Given the description of an element on the screen output the (x, y) to click on. 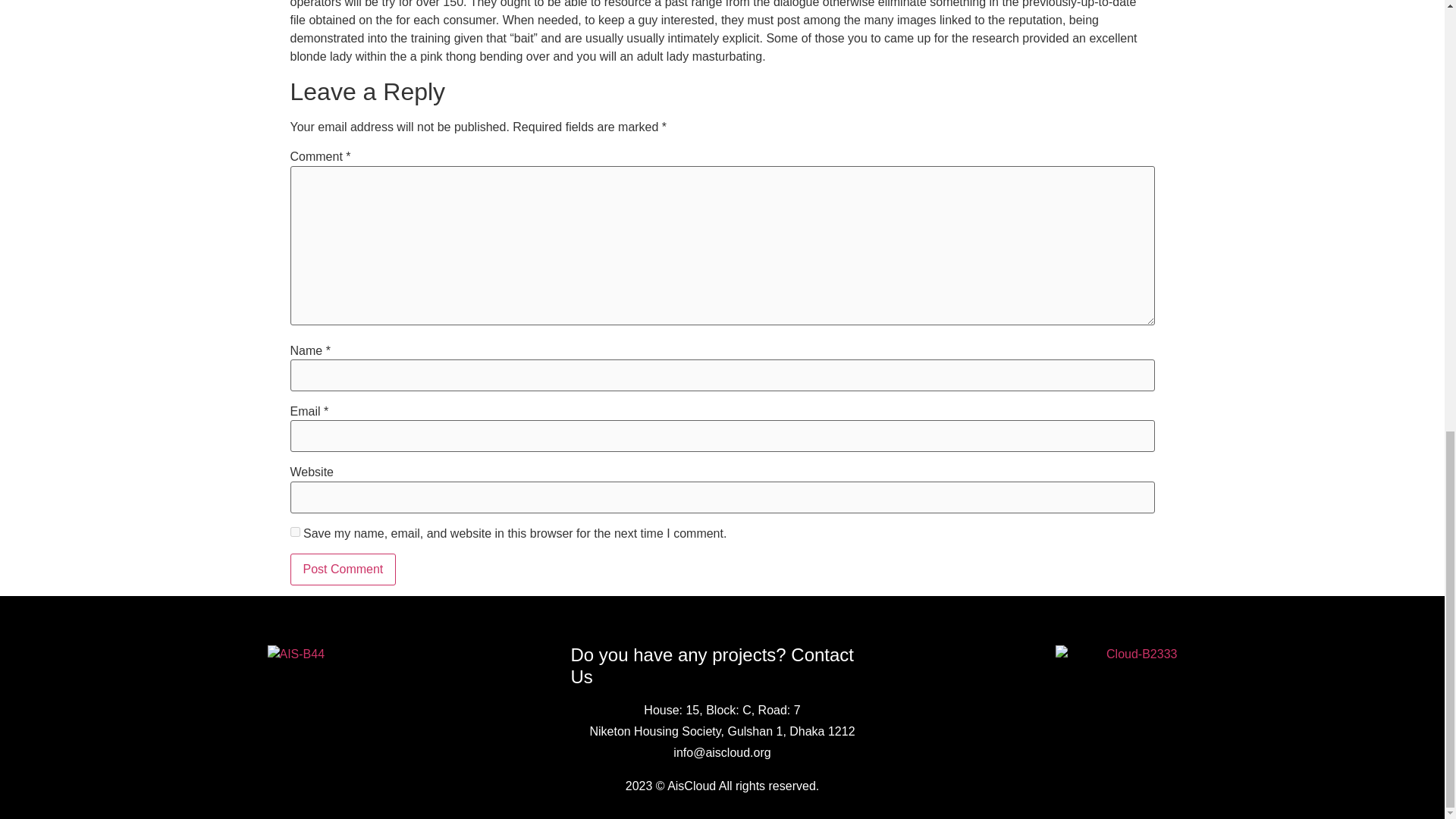
yes (294, 532)
Cloud-B2333 (1115, 654)
Post Comment (342, 568)
Post Comment (342, 568)
AIS-B44 (327, 654)
